Given the description of an element on the screen output the (x, y) to click on. 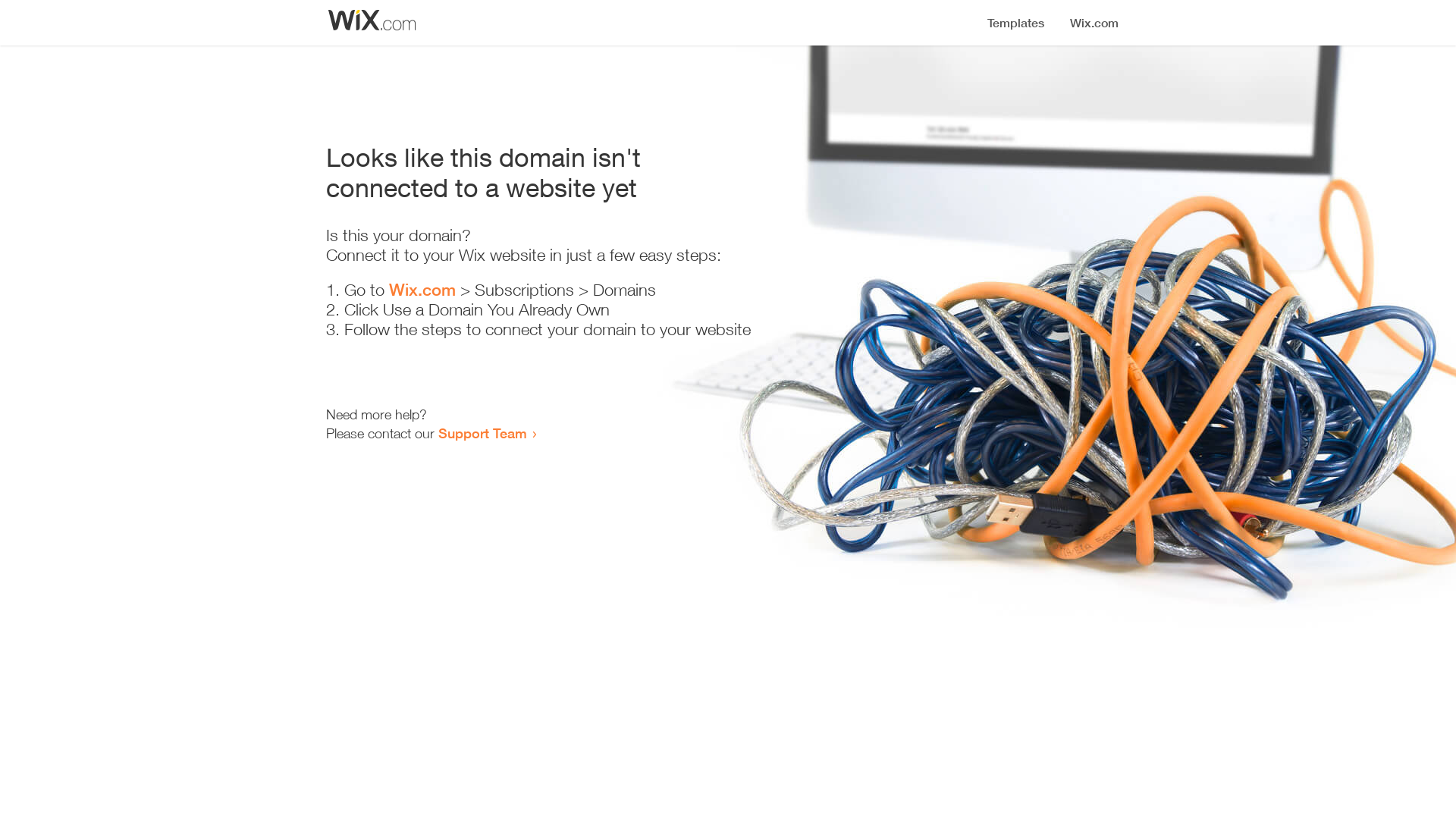
Support Team Element type: text (482, 432)
Wix.com Element type: text (422, 289)
